Given the description of an element on the screen output the (x, y) to click on. 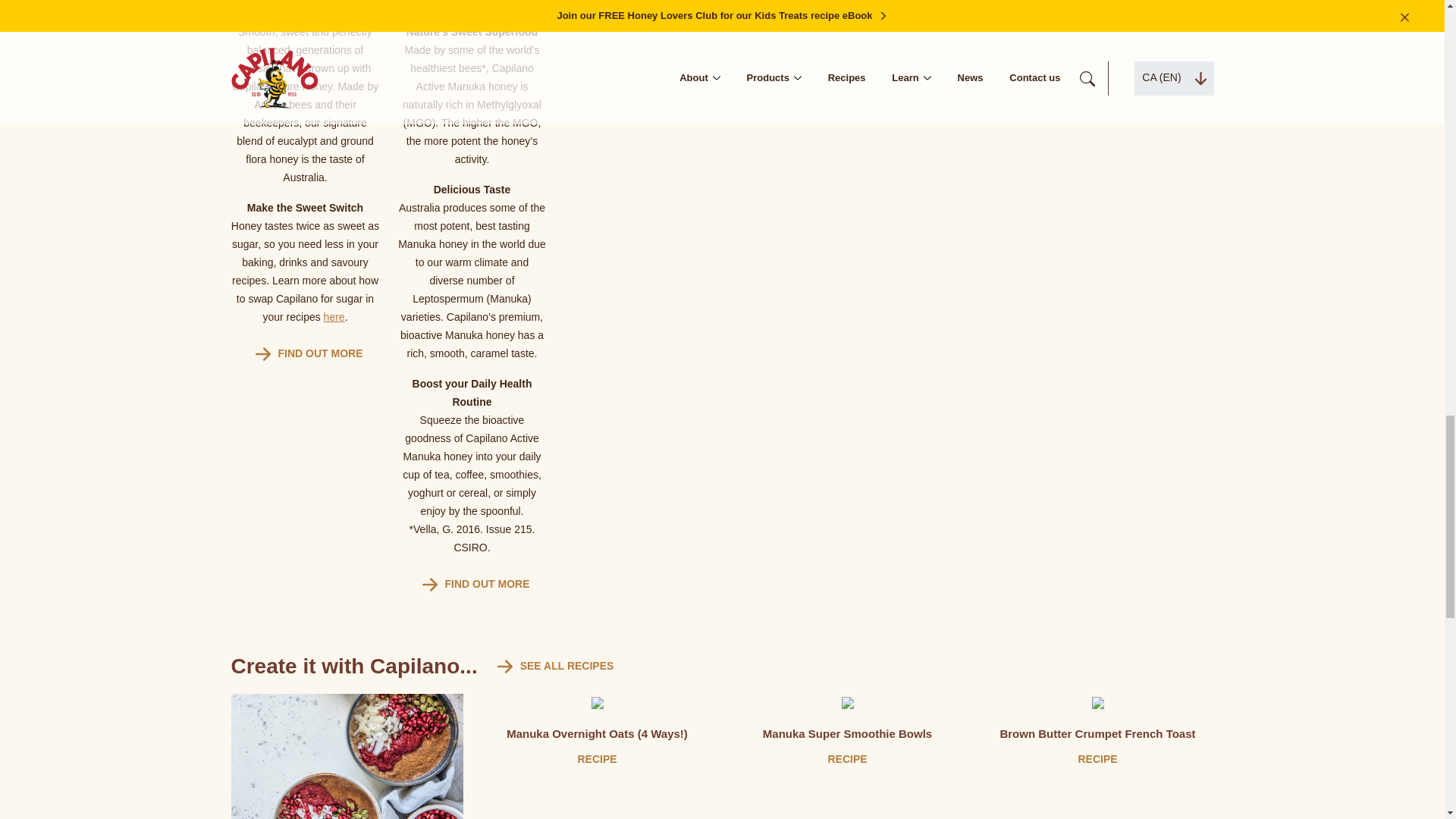
FIND OUT MORE (471, 584)
here (334, 316)
FIND OUT MORE (304, 354)
